Given the description of an element on the screen output the (x, y) to click on. 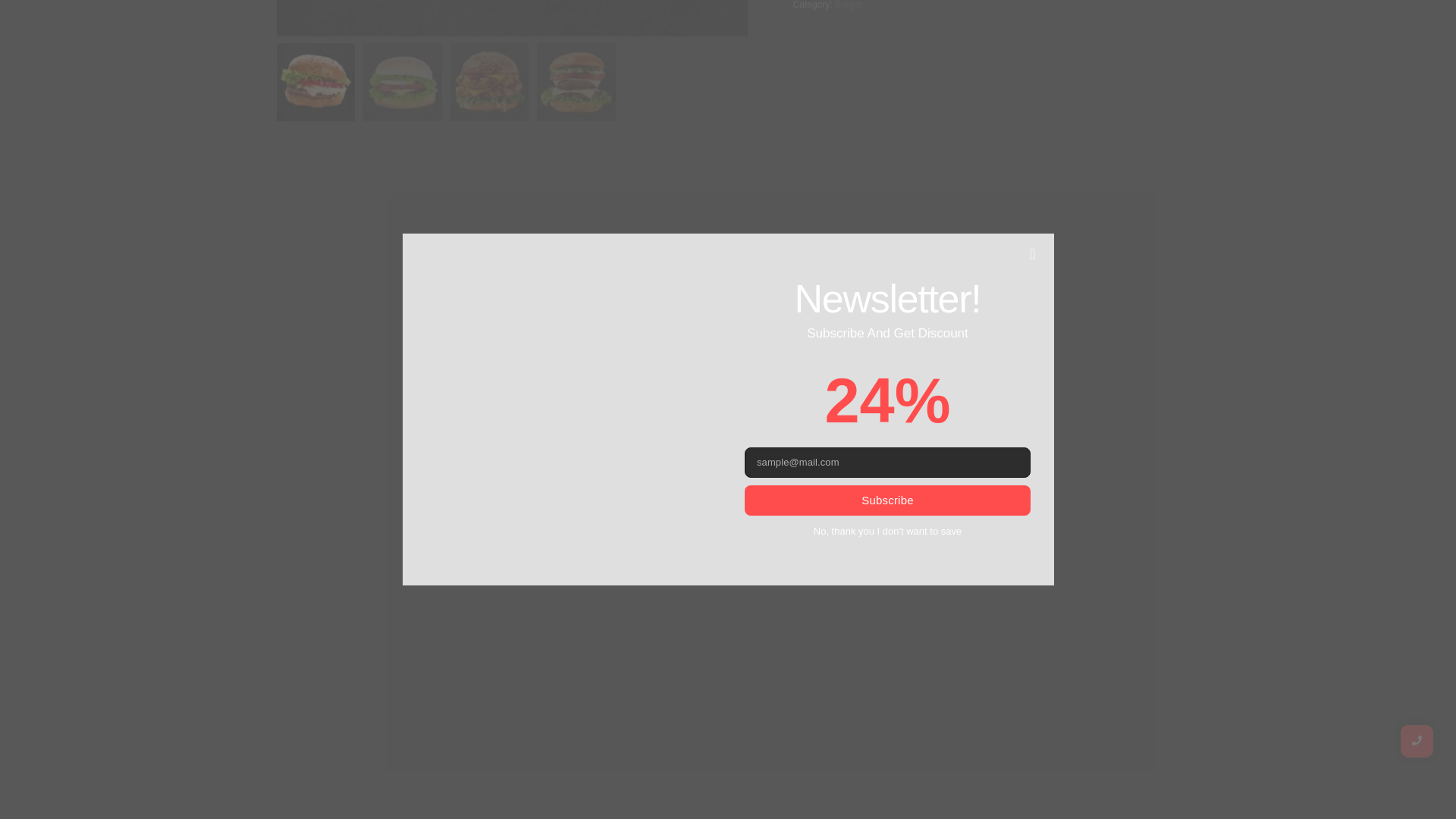
Food-24 (512, 18)
